Given the description of an element on the screen output the (x, y) to click on. 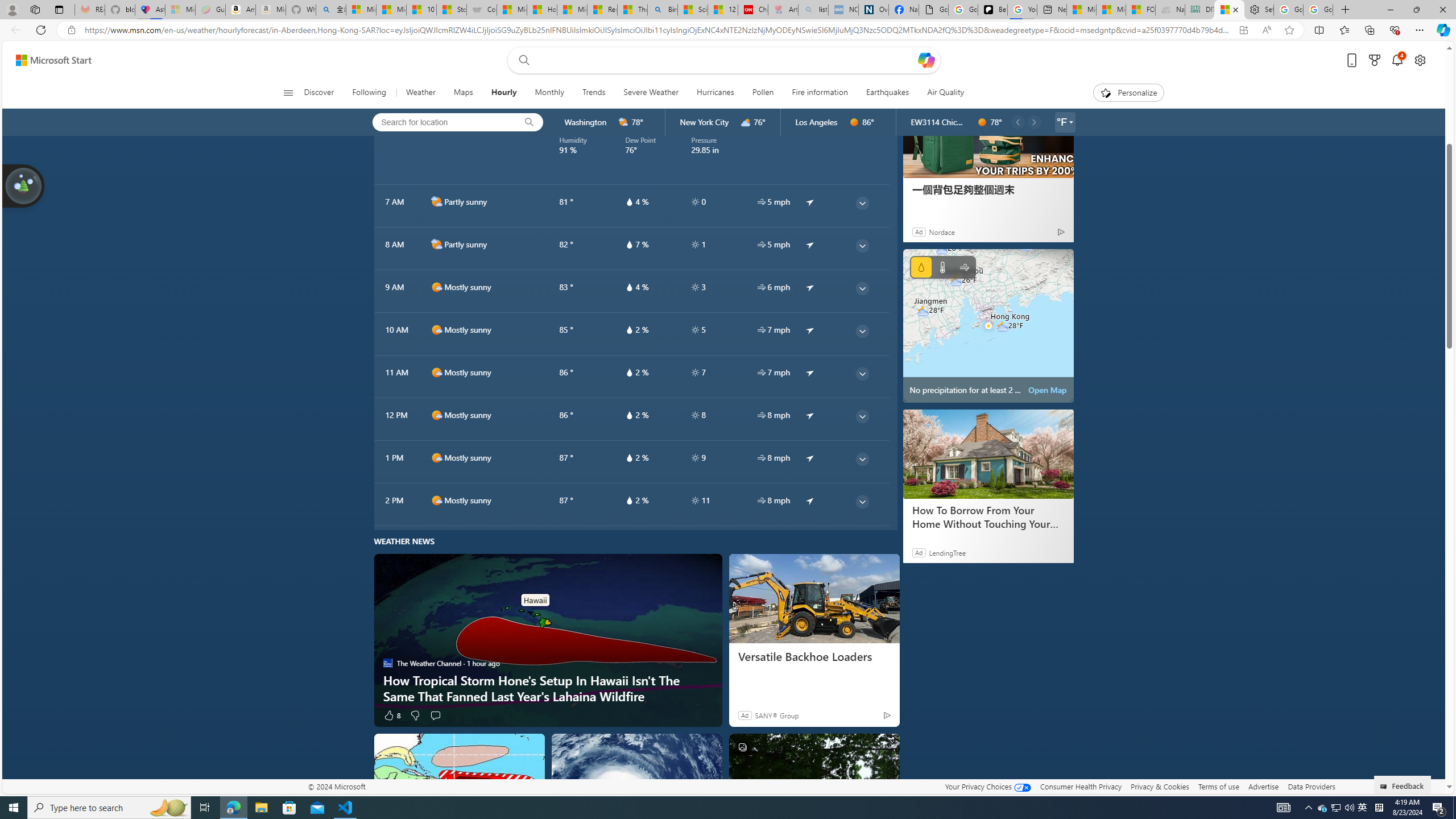
common/thinArrow (861, 501)
Air Quality (945, 92)
How I Got Rid of Microsoft Edge's Unnecessary Features (542, 9)
d1000 (436, 500)
Terms of use (1218, 786)
Personalize (1128, 92)
Earthquakes (888, 92)
Data Providers (1311, 785)
No precipitation for at least 2 hours (988, 325)
Precipitation (920, 267)
Be Smart | creating Science videos | Patreon (991, 9)
